Given the description of an element on the screen output the (x, y) to click on. 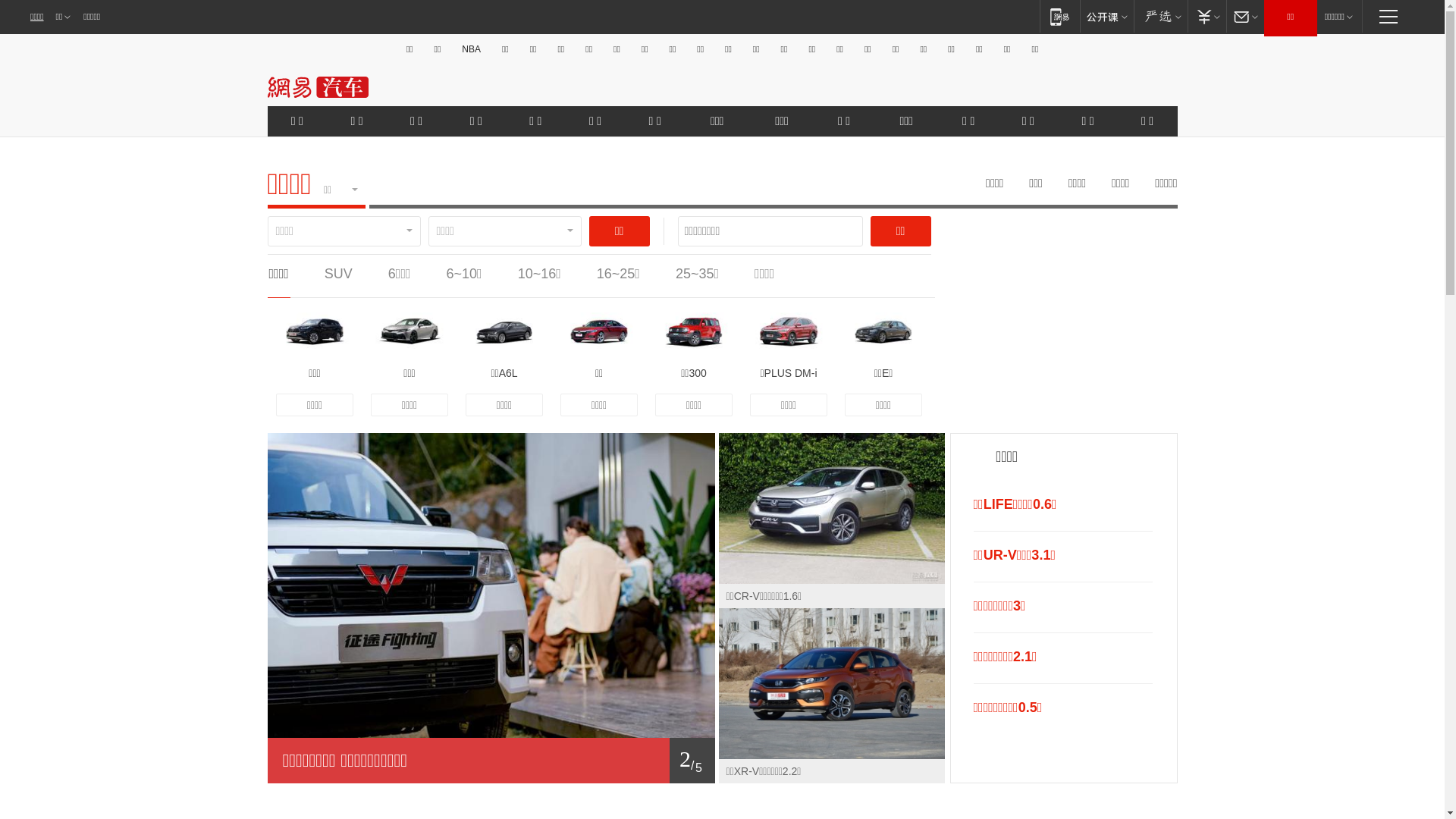
SUV Element type: text (338, 273)
1/ 5 Element type: text (490, 760)
NBA Element type: text (471, 48)
